Given the description of an element on the screen output the (x, y) to click on. 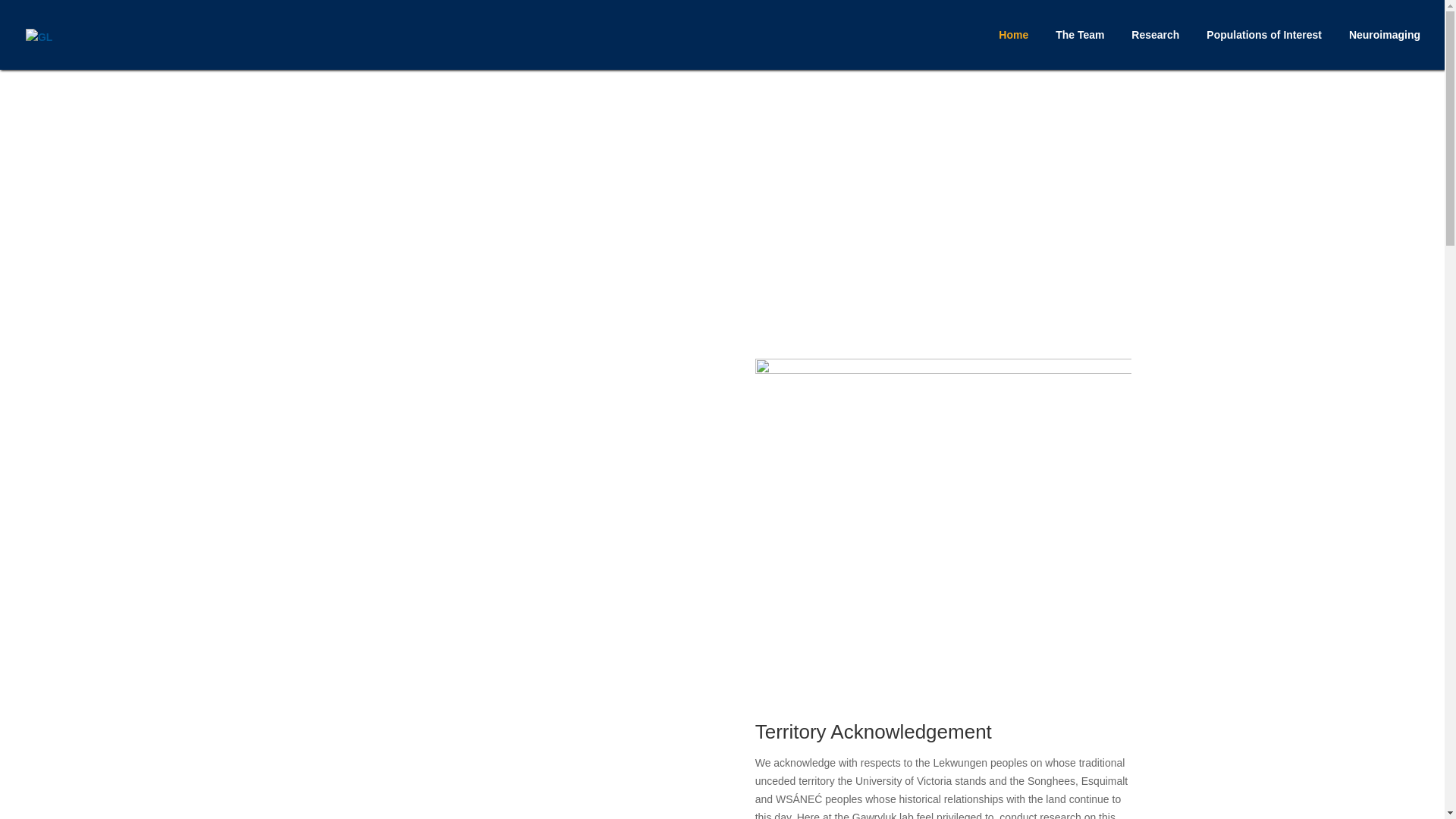
Research (1155, 49)
Populations of Interest (1264, 49)
The Team (1079, 49)
Neuroimaging (1385, 49)
